Given the description of an element on the screen output the (x, y) to click on. 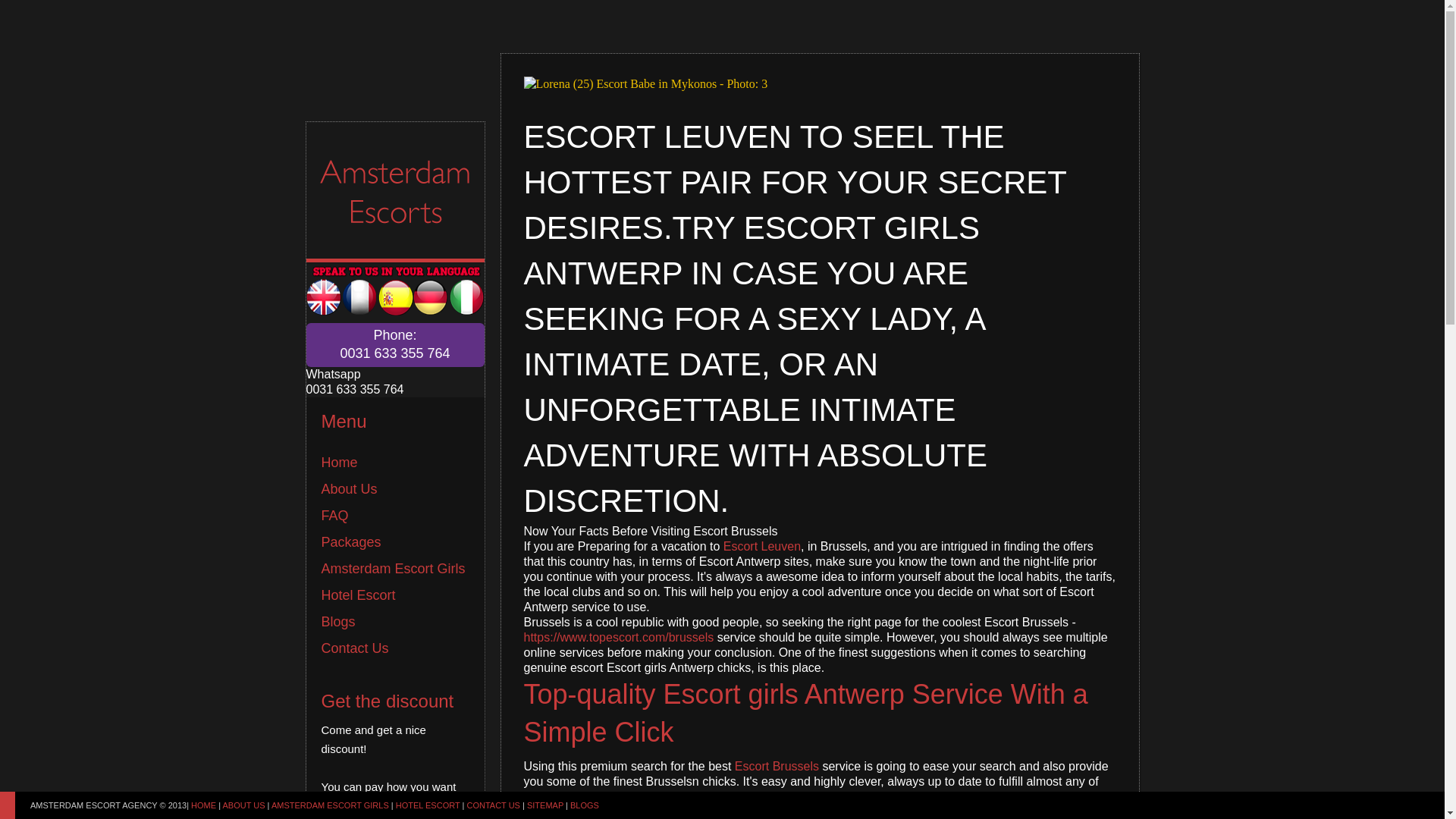
AMSTERDAM ESCORT GIRLS (329, 804)
SITEMAP (545, 804)
Home (339, 462)
Sitemap (545, 804)
About Us (349, 488)
Escort Leuven (761, 545)
FAQ (335, 515)
Call NOW! (394, 344)
Amsterdam Escort Girls (393, 568)
Hotel Escort (358, 595)
About Us (243, 804)
 Contact Us (492, 804)
Hotel Escort (358, 595)
Amsterdam Escort Girls (393, 568)
Blogs (338, 621)
